Given the description of an element on the screen output the (x, y) to click on. 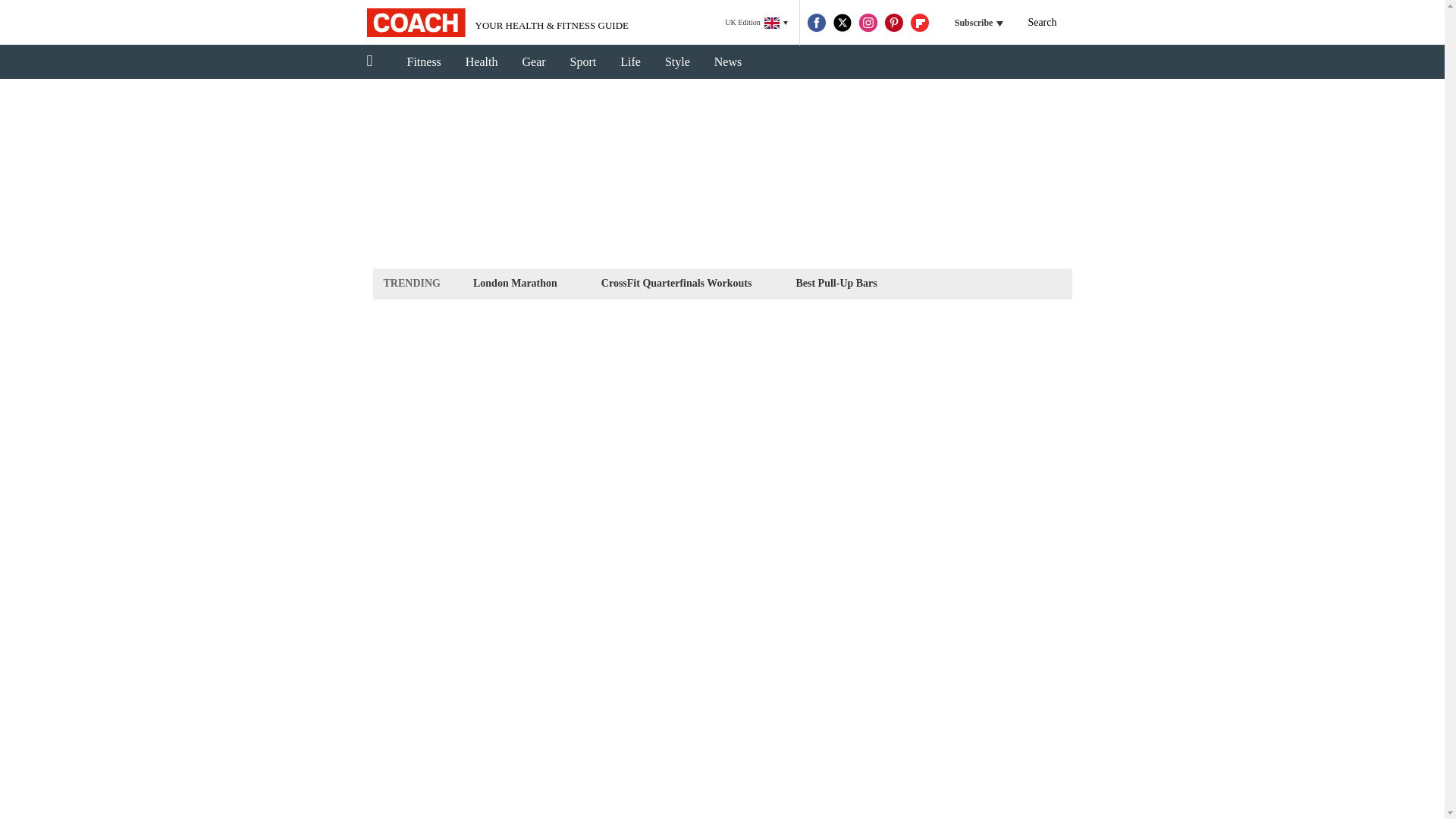
Life (630, 61)
Fitness (423, 61)
News (727, 61)
Gear (533, 61)
London Marathon (514, 282)
CrossFit Quarterfinals Workouts (676, 282)
UK Edition (755, 22)
Style (676, 61)
Sport (582, 61)
Health (481, 61)
Best Pull-Up Bars (836, 282)
